Given the description of an element on the screen output the (x, y) to click on. 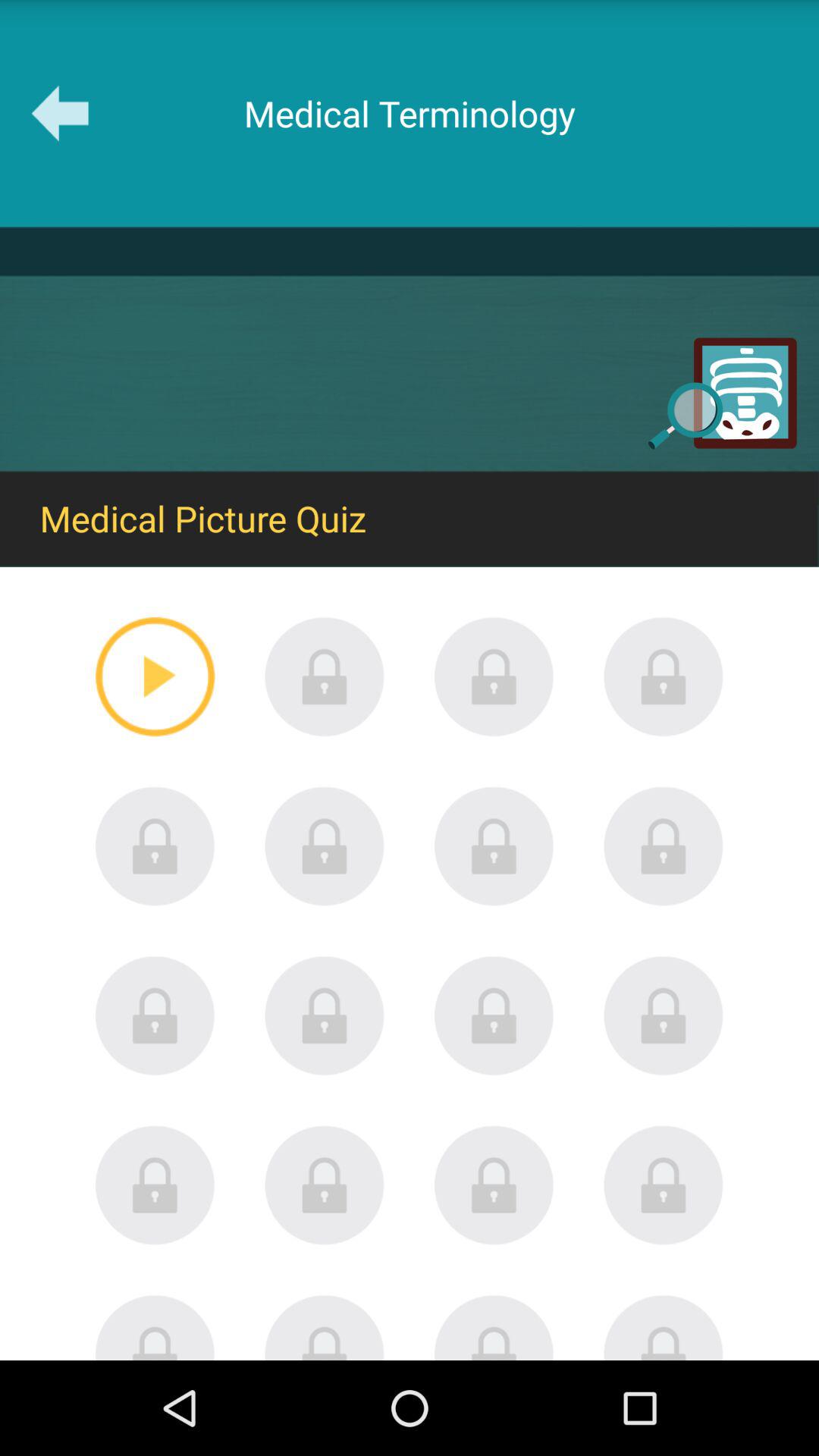
locked (663, 1327)
